Given the description of an element on the screen output the (x, y) to click on. 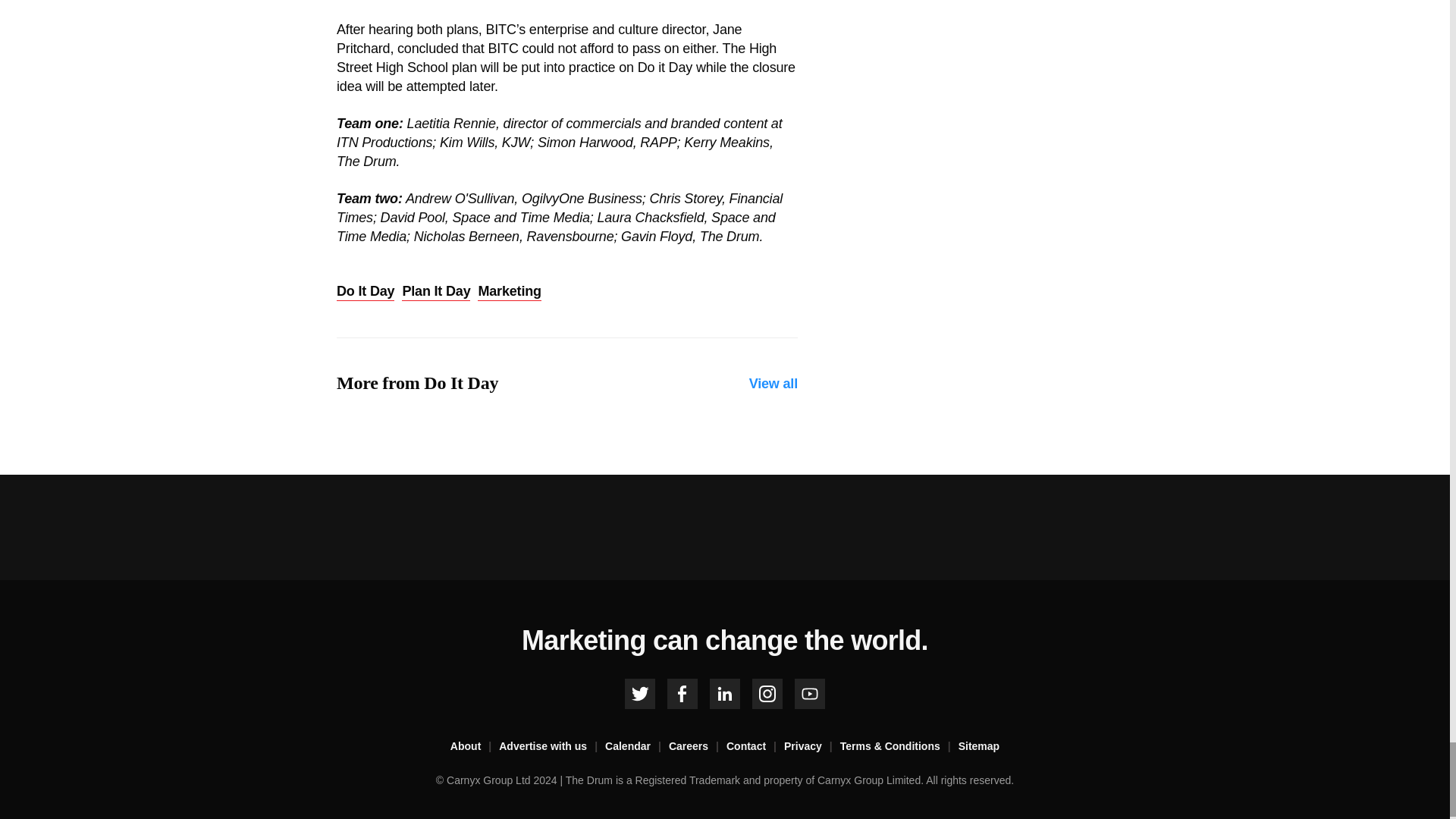
Advertise with us (552, 746)
Do It Day (365, 291)
Careers (697, 746)
View all (773, 384)
Plan It Day (435, 291)
Privacy (812, 746)
About (474, 746)
Calendar (636, 746)
Contact (755, 746)
Marketing (508, 291)
